Given the description of an element on the screen output the (x, y) to click on. 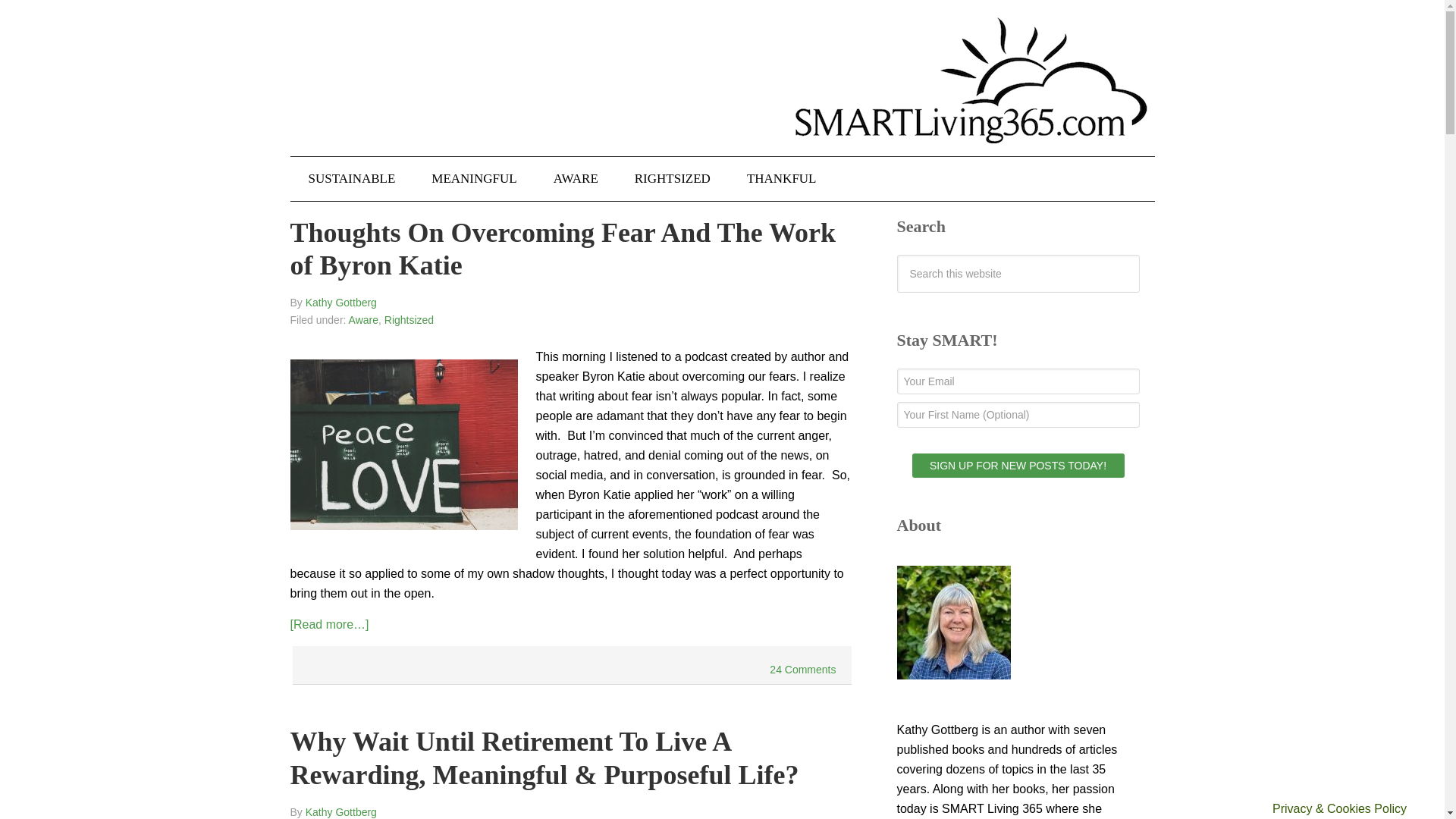
Thoughts On Overcoming Fear And The Work of Byron Katie (561, 248)
Rightsized (408, 319)
RIGHTSIZED (672, 178)
MEANINGFUL (473, 178)
AWARE (575, 178)
SUSTAINABLE (351, 178)
THANKFUL (781, 178)
Sign up for new posts today! (1017, 465)
Kathy Gottberg (341, 811)
24 Comments (802, 669)
Kathy Gottberg (341, 302)
Aware (363, 319)
SMART LIVING 365 (721, 92)
